Given the description of an element on the screen output the (x, y) to click on. 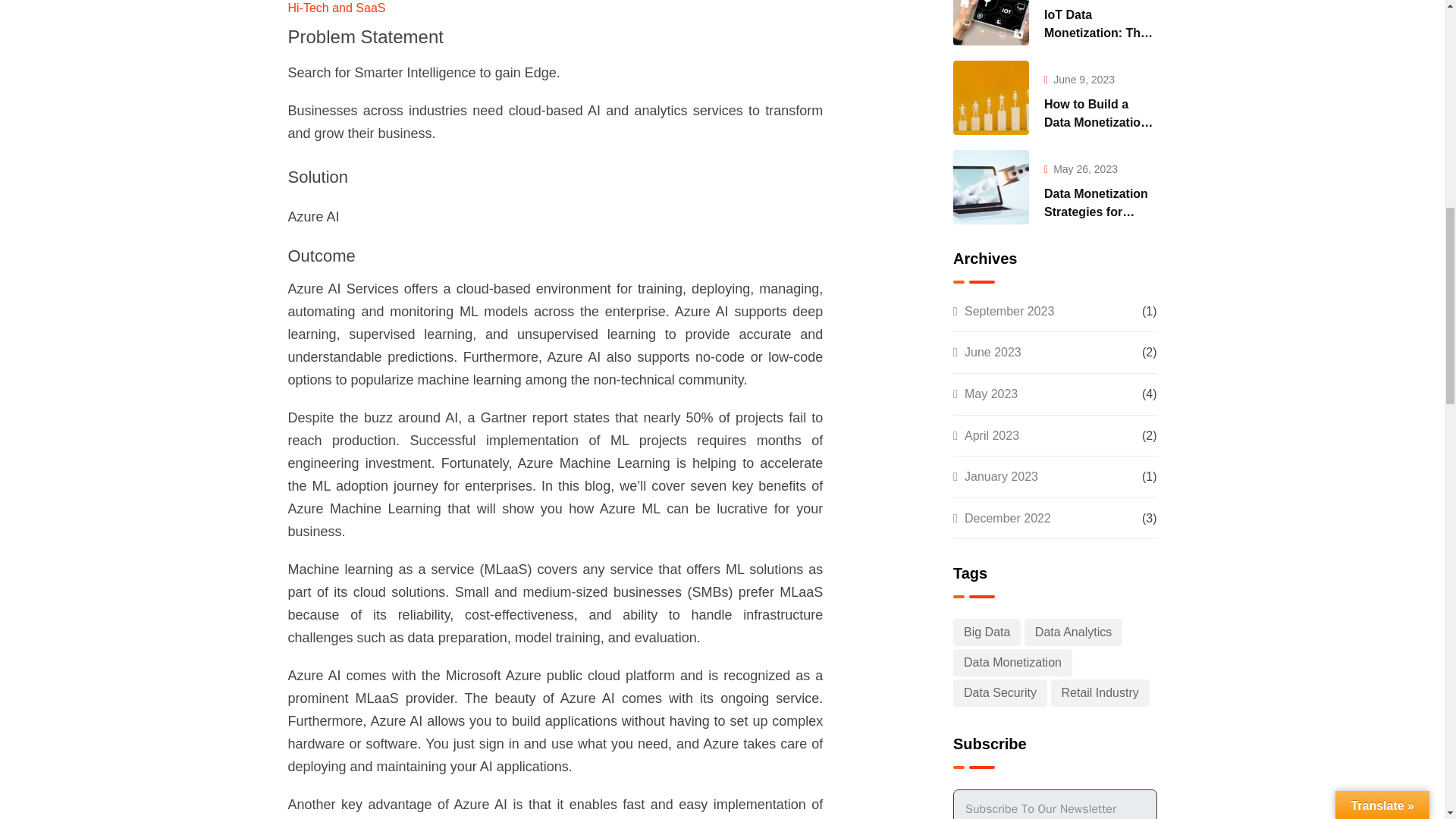
TOP (1410, 60)
How to Build a Data Monetization Strategy from Scratch (991, 97)
